Given the description of an element on the screen output the (x, y) to click on. 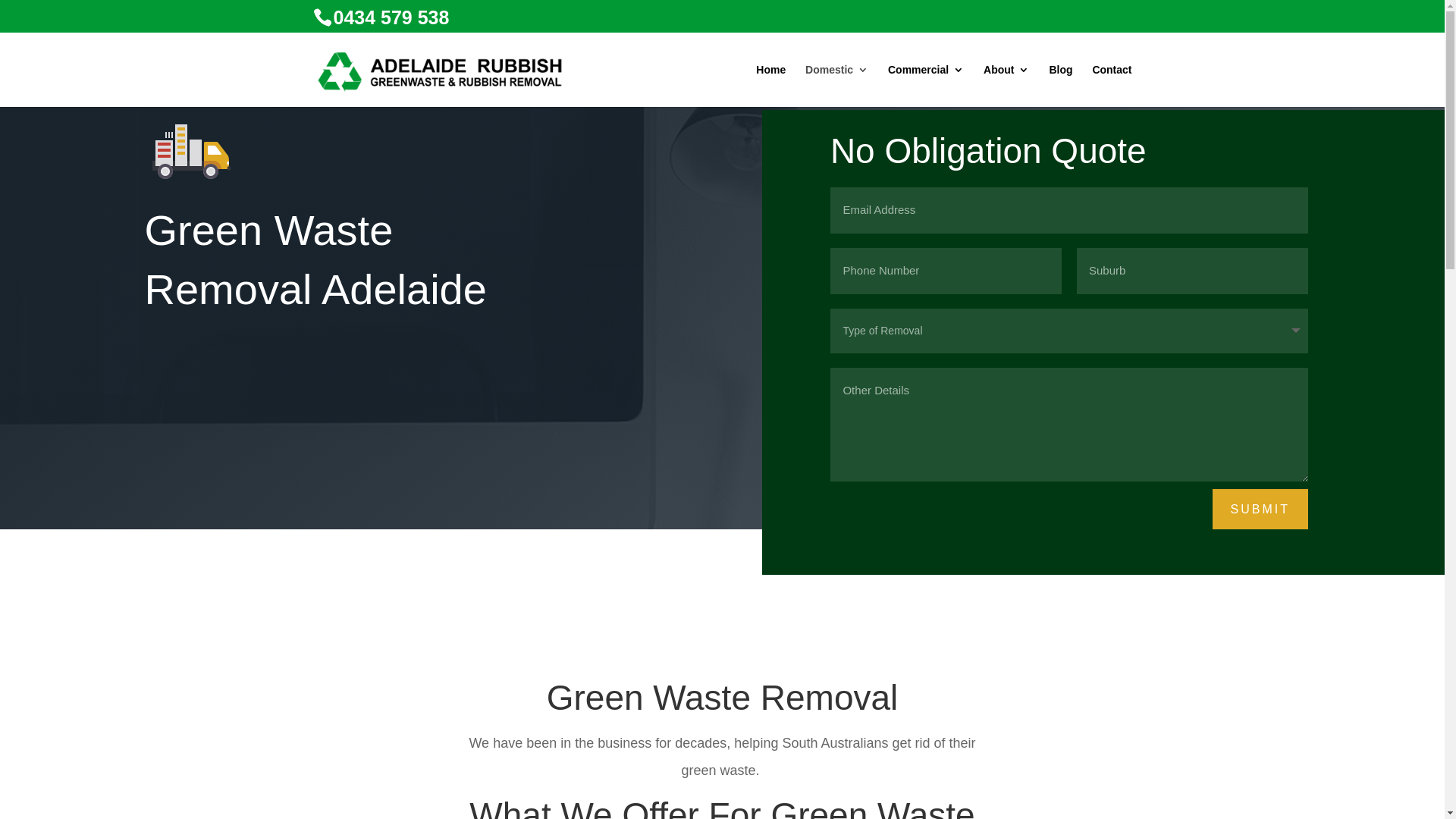
Contact Element type: text (1111, 85)
Blog Element type: text (1060, 85)
Commercial Element type: text (925, 85)
SUBMIT Element type: text (1260, 509)
About Element type: text (1006, 85)
Domestic Element type: text (836, 85)
0434 579 538 Element type: text (391, 17)
Home Element type: text (770, 85)
